Given the description of an element on the screen output the (x, y) to click on. 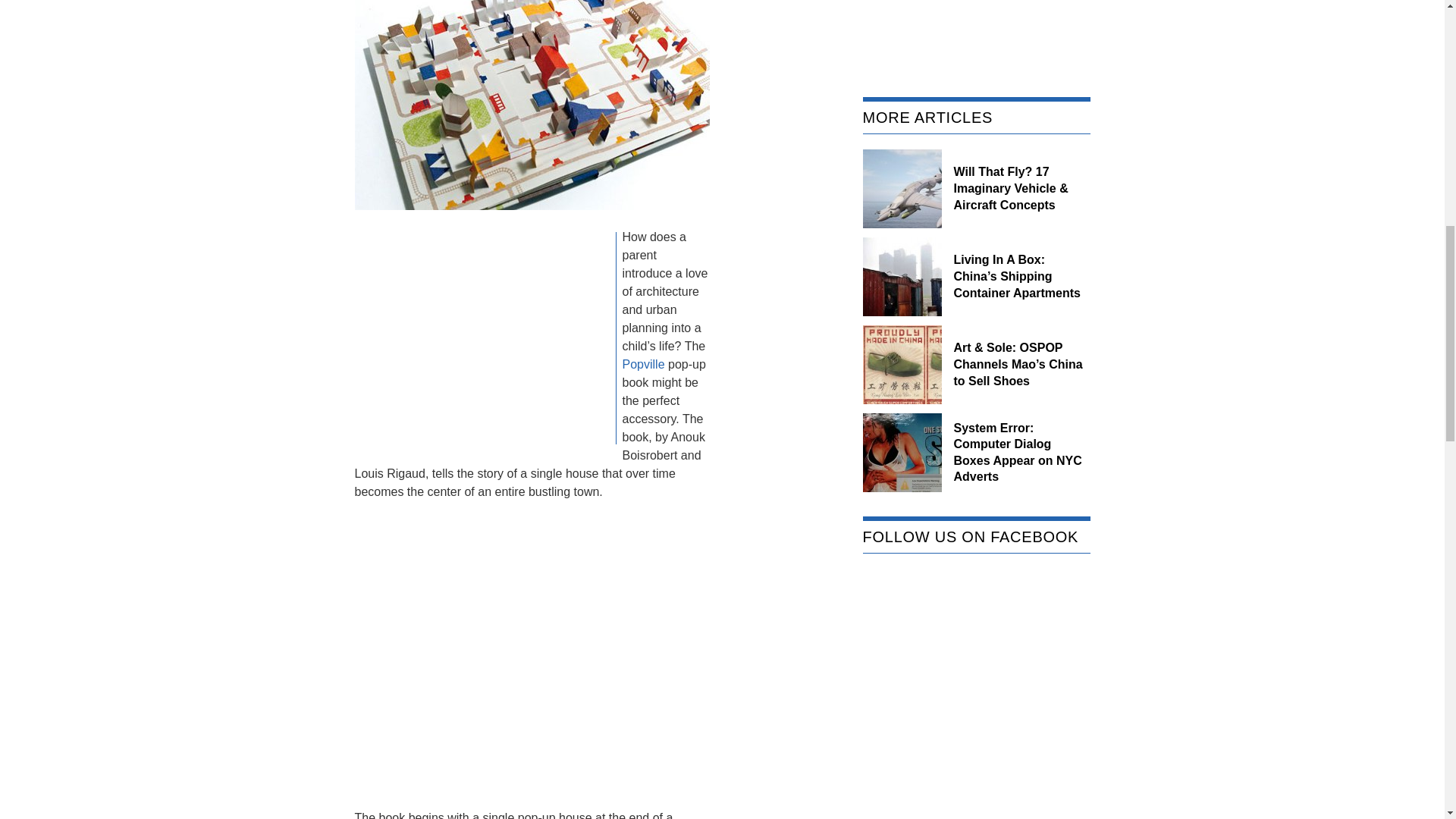
System Error: Computer Dialog Boxes Appear on NYC Adverts (1017, 452)
popville book (532, 104)
Popville (642, 364)
